Given the description of an element on the screen output the (x, y) to click on. 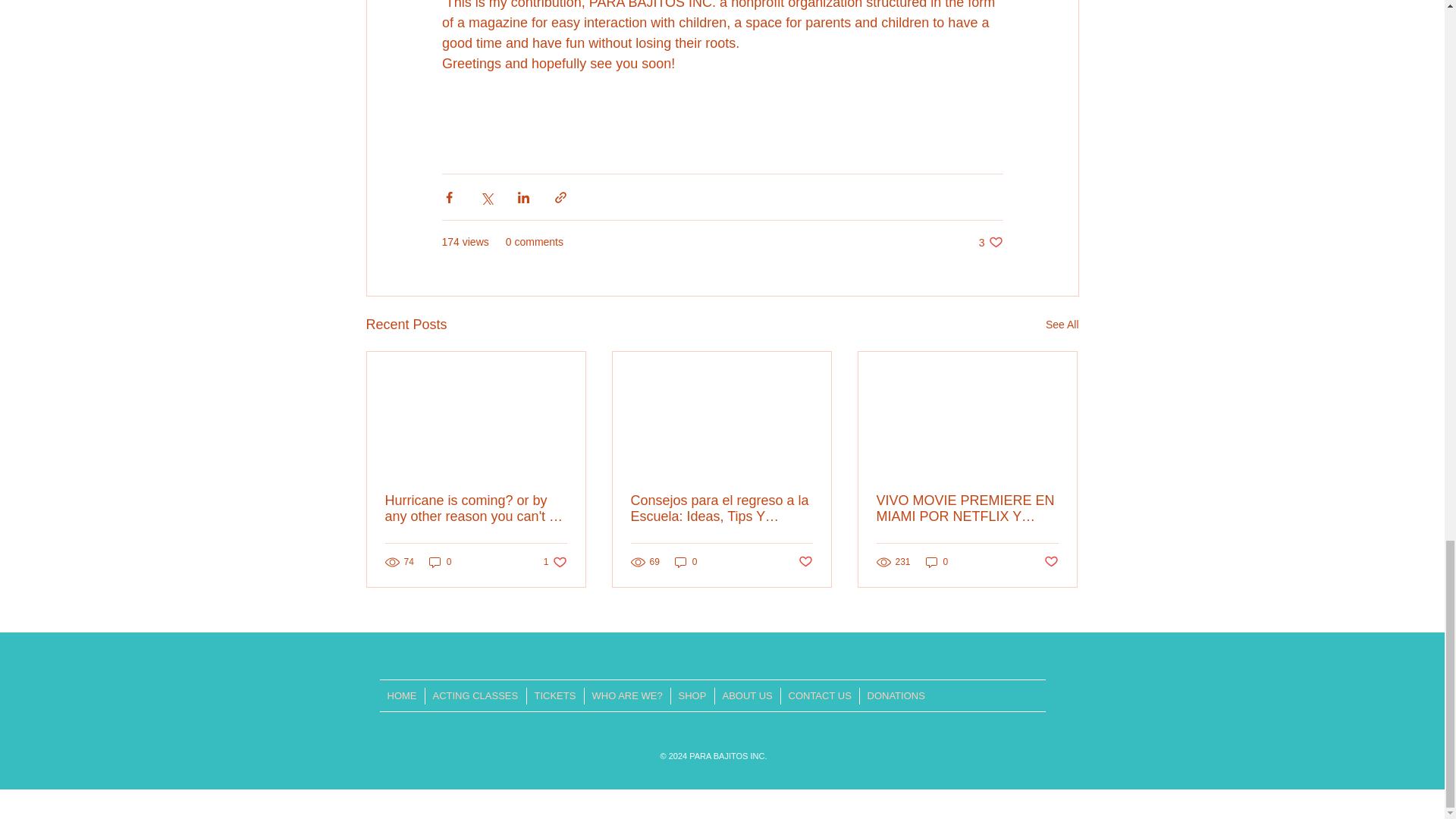
TICKETS (554, 695)
HOME (400, 695)
Post not marked as liked (1050, 562)
ACTING CLASSES (475, 695)
0 (685, 562)
See All (1061, 324)
SHOP (691, 695)
CONTACT US (818, 695)
0 (440, 562)
DONATIONS (895, 695)
WHO ARE WE? (626, 695)
0 (937, 562)
ABOUT US (747, 695)
